Given the description of an element on the screen output the (x, y) to click on. 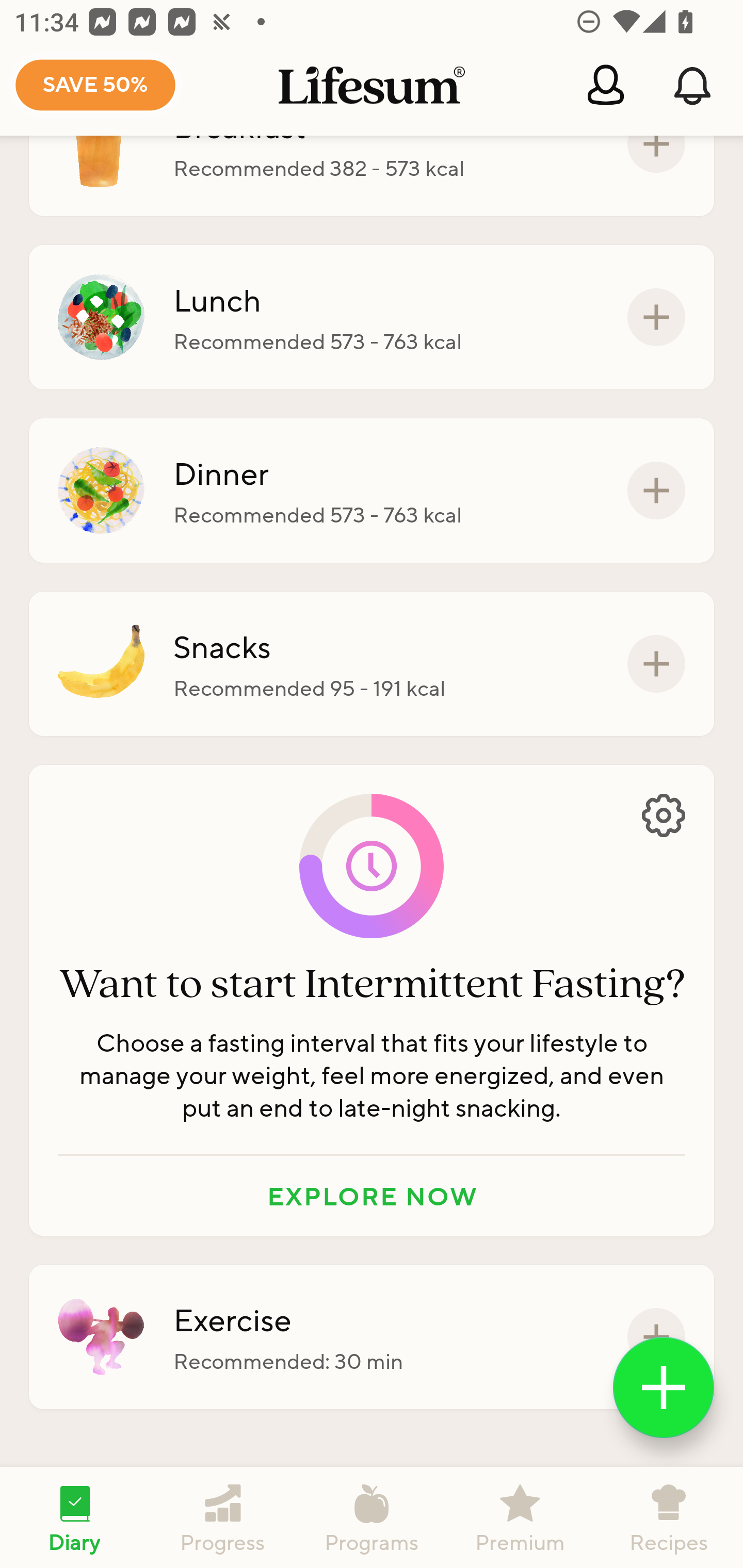
Lunch Recommended 573 - 763 kcal (371, 316)
Dinner Recommended 573 - 763 kcal (371, 490)
Snacks Recommended 95 - 191 kcal (371, 663)
EXPLORE NOW (371, 1195)
Exercise Recommended: 30 min (371, 1337)
Progress (222, 1517)
Programs (371, 1517)
Premium (519, 1517)
Recipes (668, 1517)
